Given the description of an element on the screen output the (x, y) to click on. 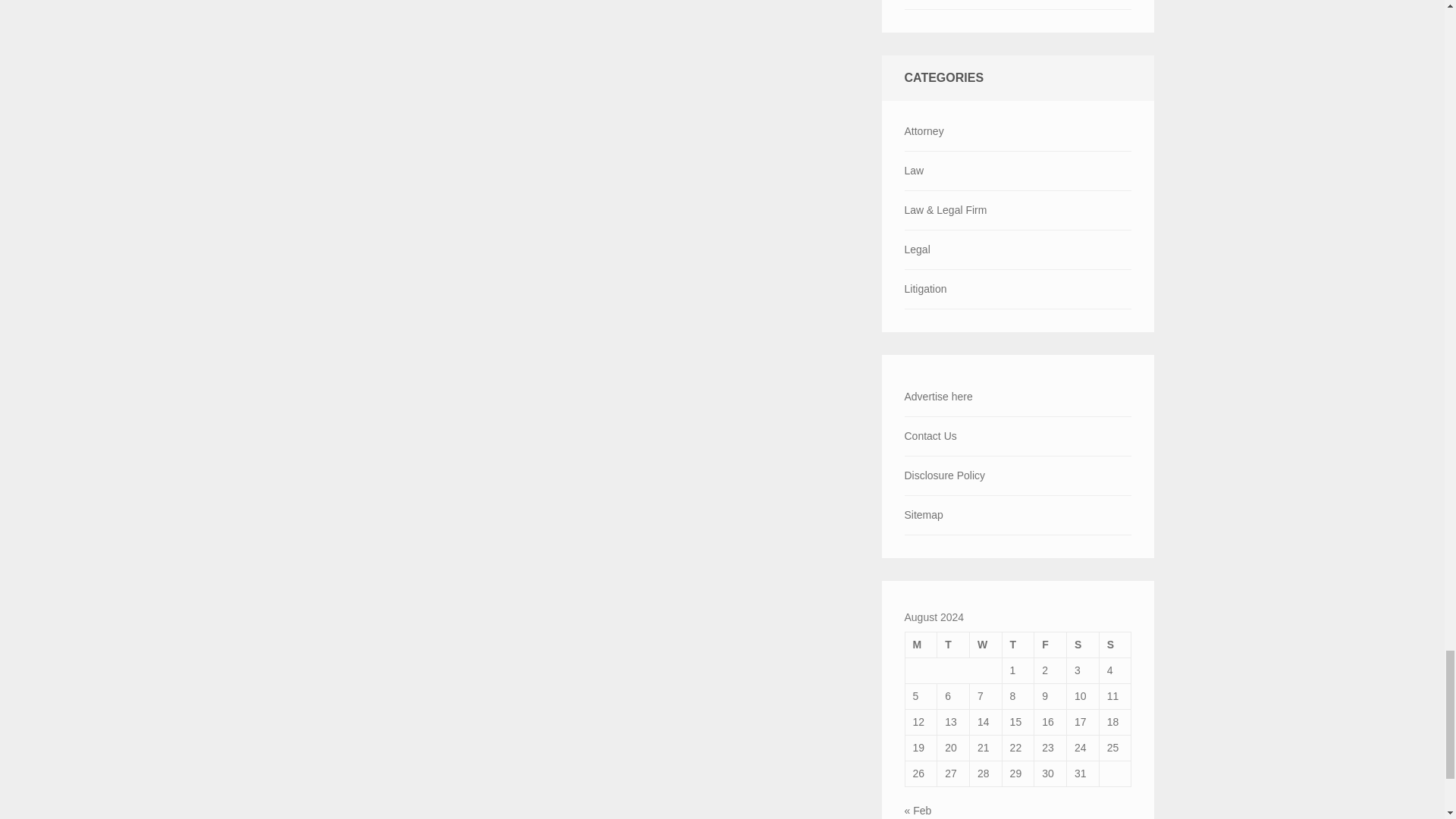
Tuesday (953, 645)
Sunday (1115, 645)
Wednesday (985, 645)
Thursday (1017, 645)
Saturday (1083, 645)
Monday (920, 645)
Friday (1050, 645)
